Given the description of an element on the screen output the (x, y) to click on. 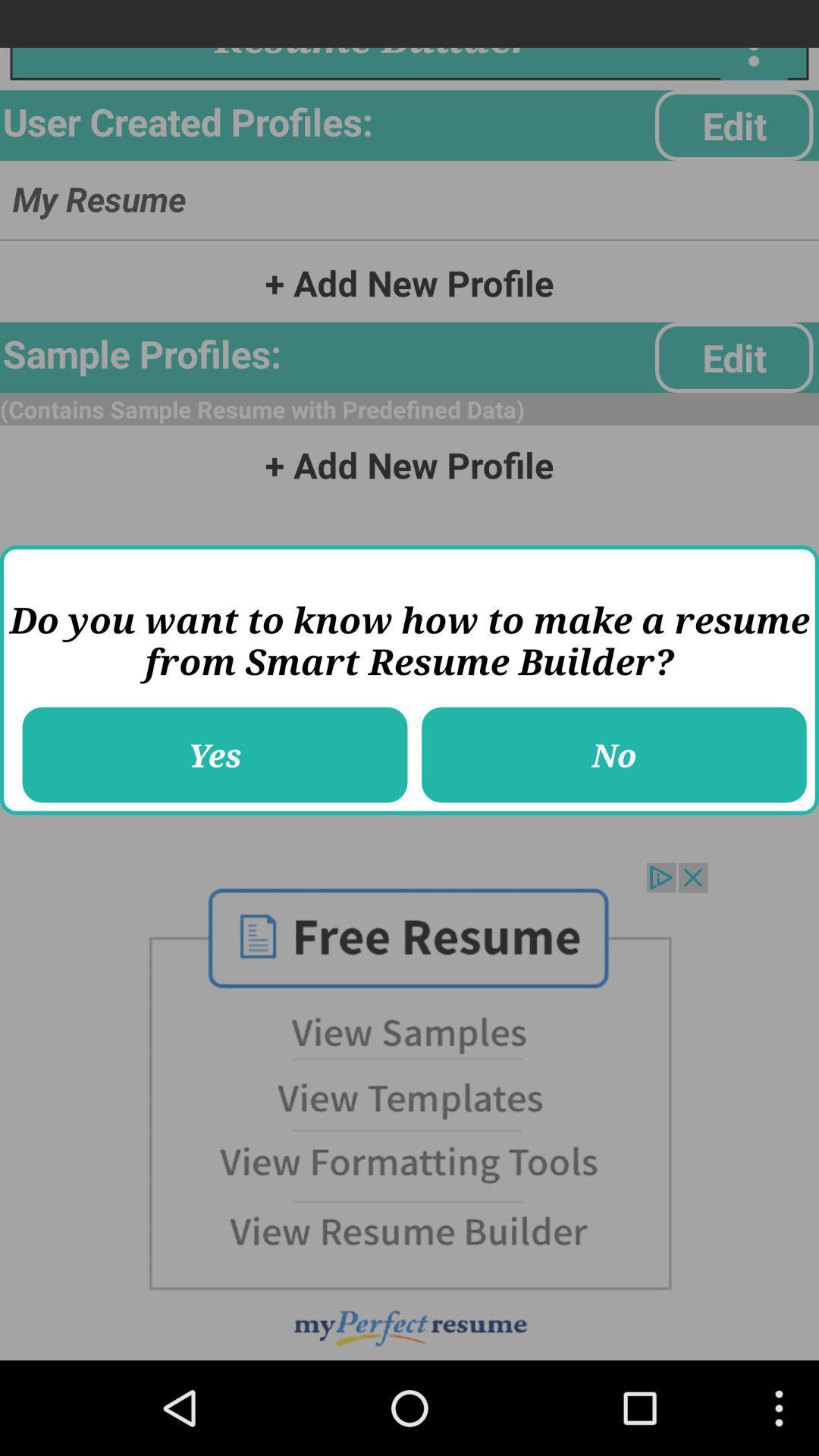
select the item below the do you want (613, 754)
